Given the description of an element on the screen output the (x, y) to click on. 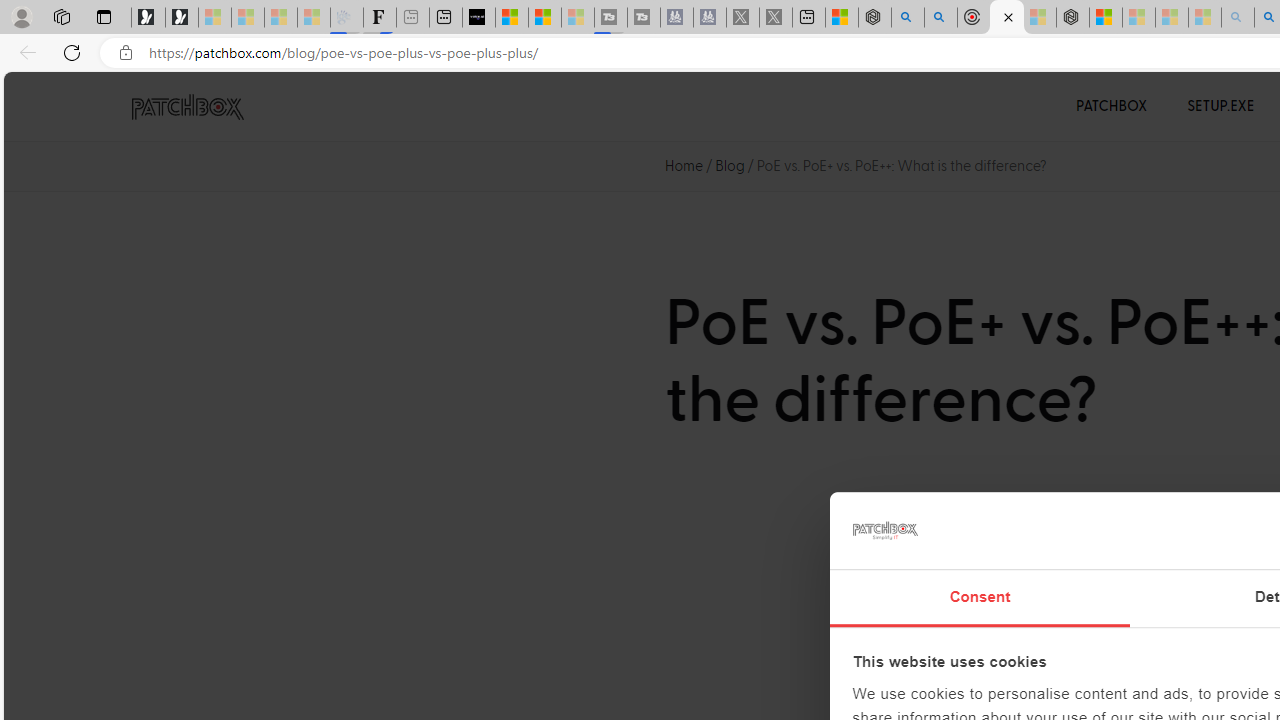
PATCHBOX (1111, 106)
PATCHBOX (1111, 106)
PATCHBOX - Simplify IT (187, 107)
Consent (979, 598)
poe ++ standard - Search (941, 17)
